Given the description of an element on the screen output the (x, y) to click on. 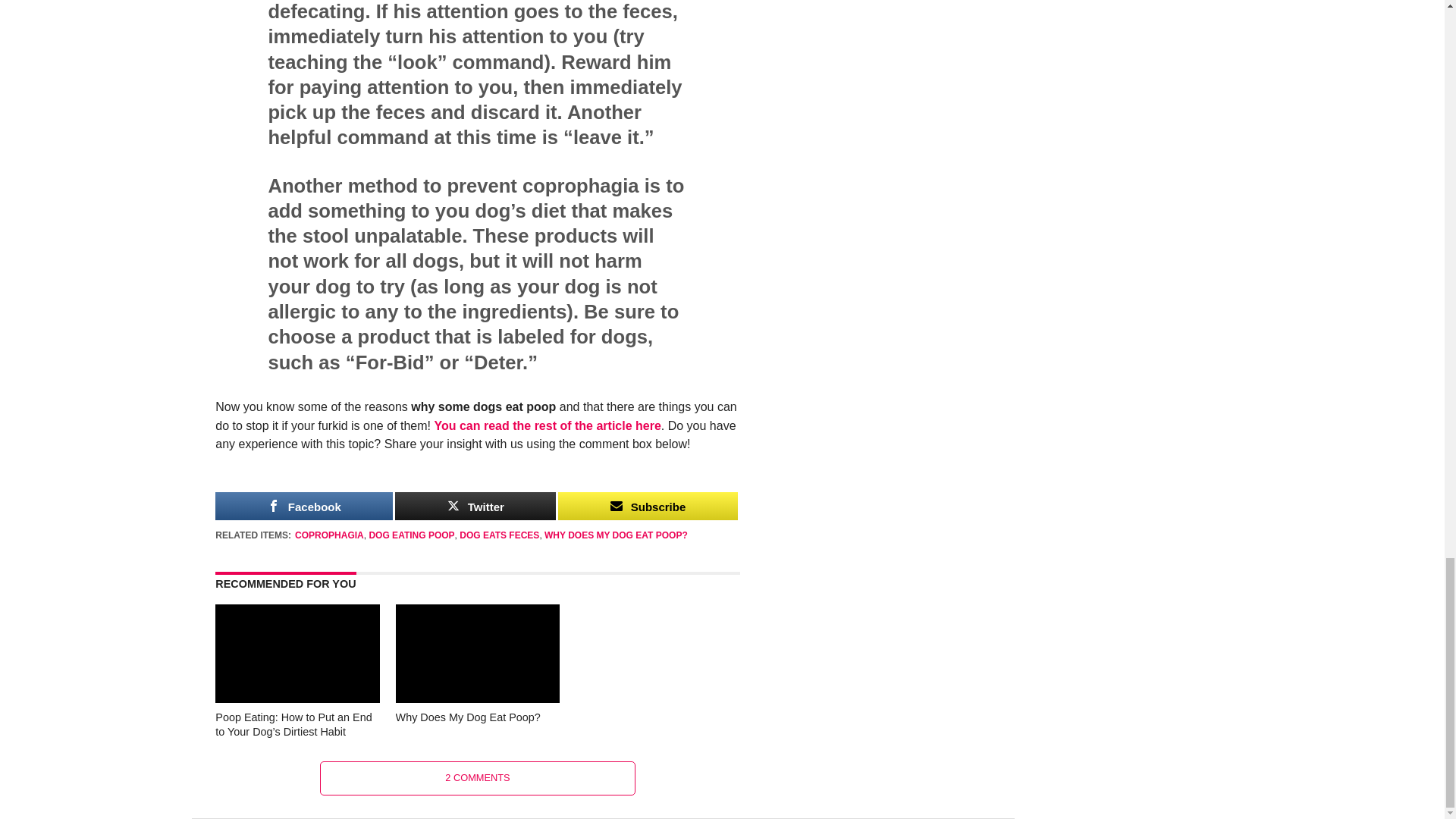
Why Does My Dog Eat Poop? (478, 698)
Why Does My Dog Eat Poop? 3 (478, 653)
